Given the description of an element on the screen output the (x, y) to click on. 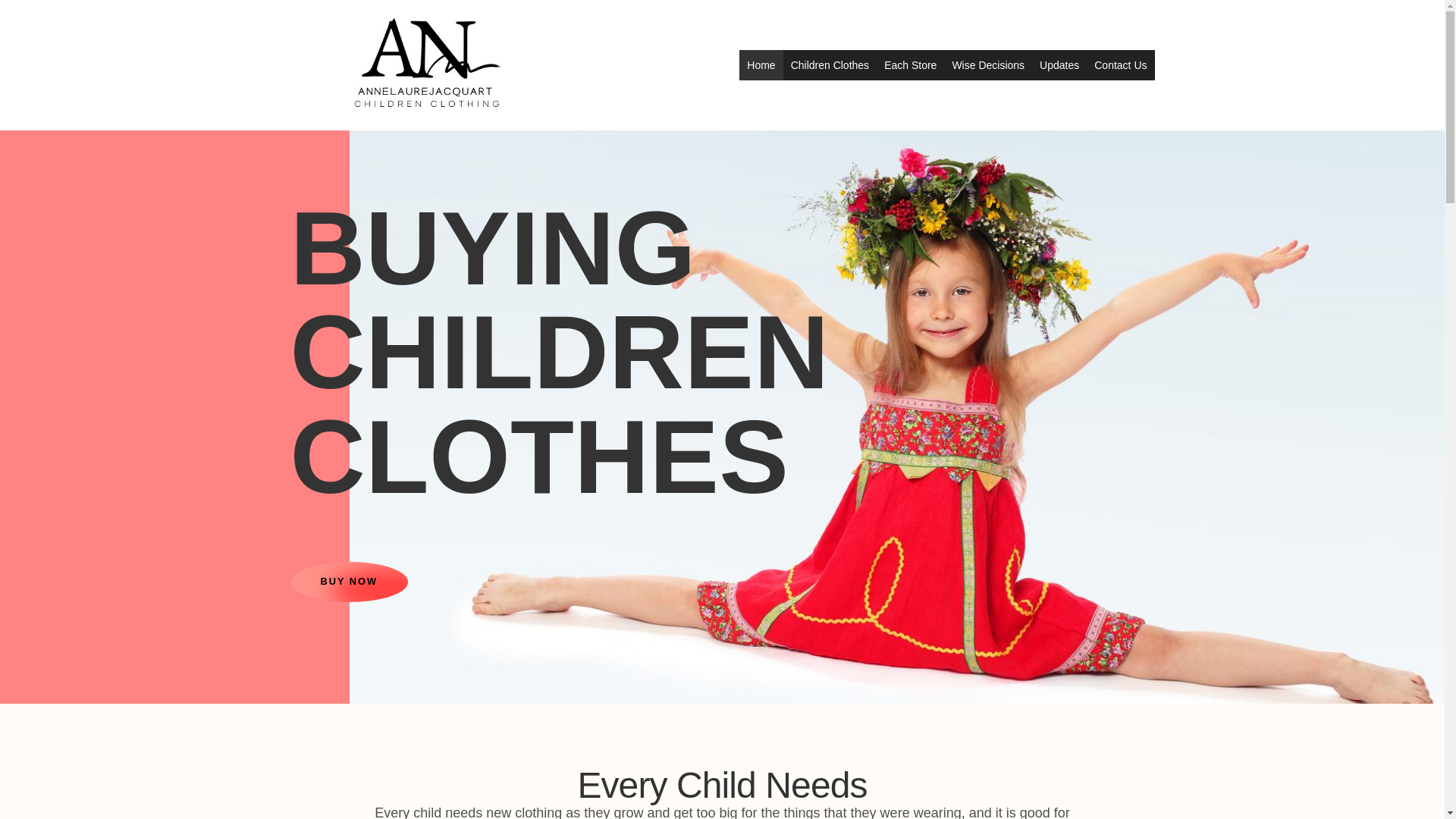
Updates (1059, 64)
Home (761, 64)
Wise Decisions (987, 64)
Each Store (909, 64)
BUY NOW (348, 581)
Children Clothes (830, 64)
Updates (319, 145)
Contact Us (380, 145)
Contact Us (1120, 64)
Each Store (170, 145)
Wise Decisions (248, 145)
Home (21, 145)
Children Clothes (89, 145)
